Given the description of an element on the screen output the (x, y) to click on. 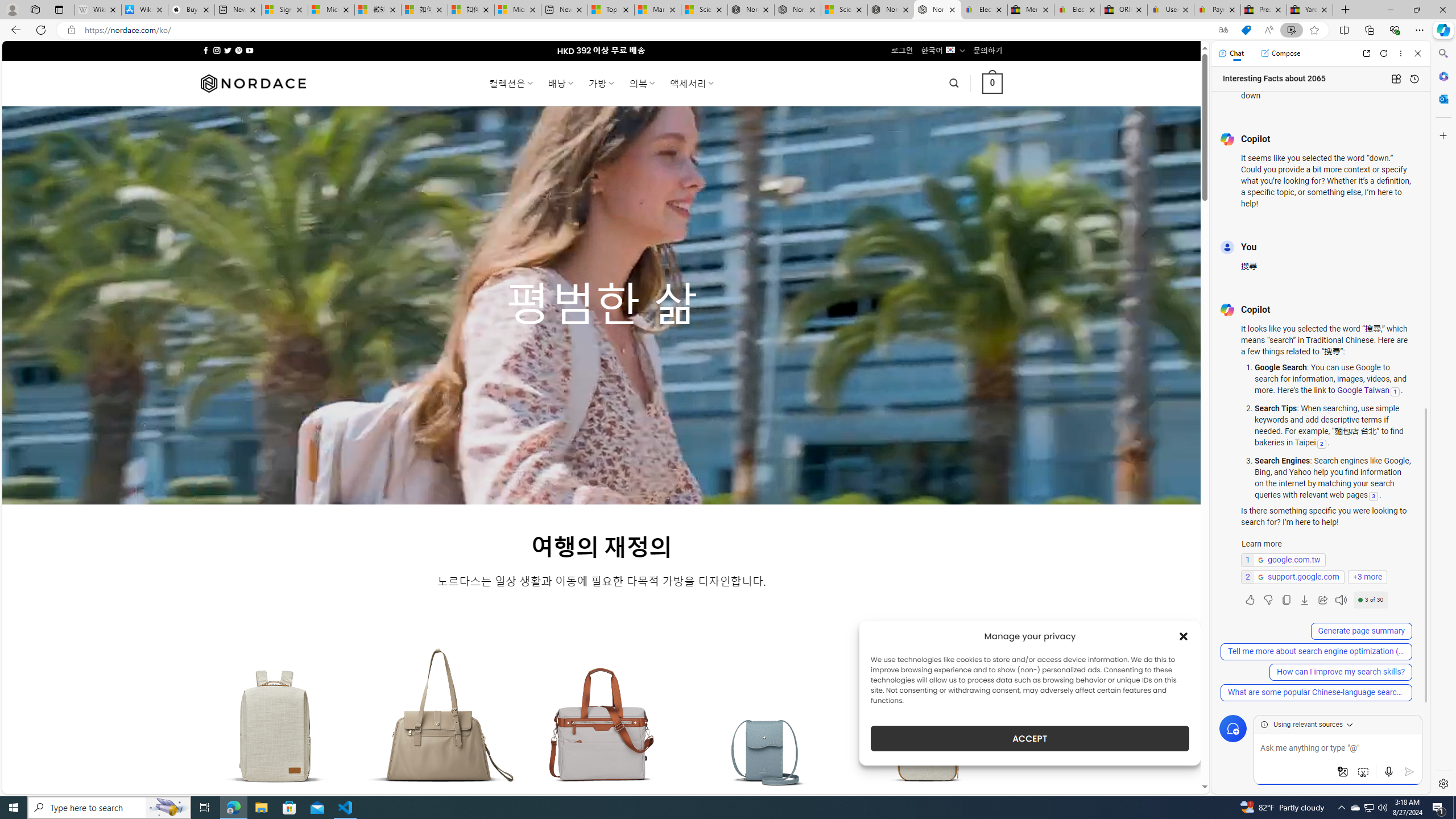
Marine life - MSN (656, 9)
Wikipedia - Sleeping (97, 9)
